Given the description of an element on the screen output the (x, y) to click on. 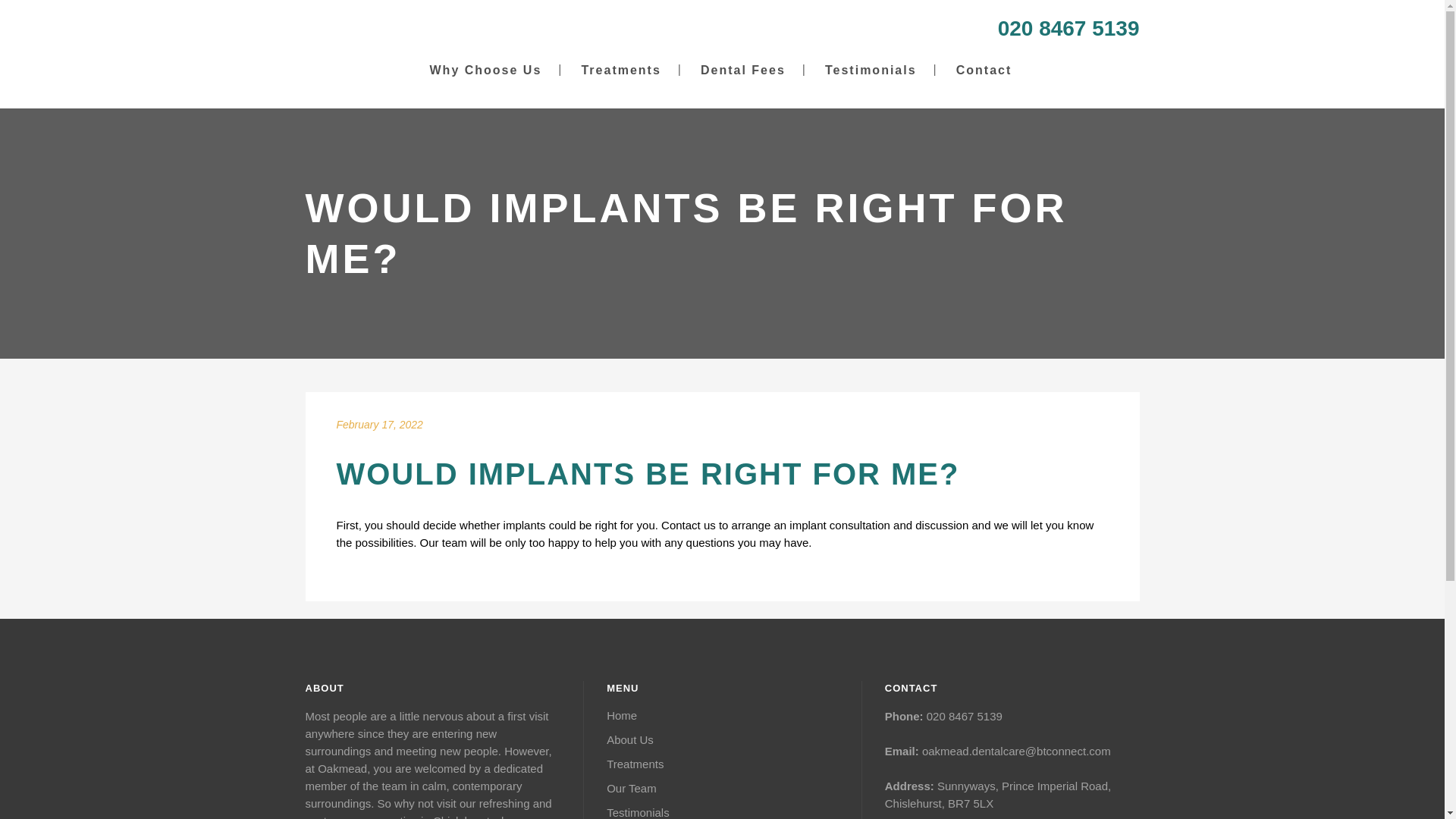
020 8467 5139 (964, 716)
020 8467 5139 (1068, 28)
Treatments (620, 70)
Treatments (722, 764)
Why Choose Us (486, 70)
Home (722, 715)
Testimonials (870, 70)
Our Team (722, 788)
Testimonials (722, 811)
Dental Fees (742, 70)
